Given the description of an element on the screen output the (x, y) to click on. 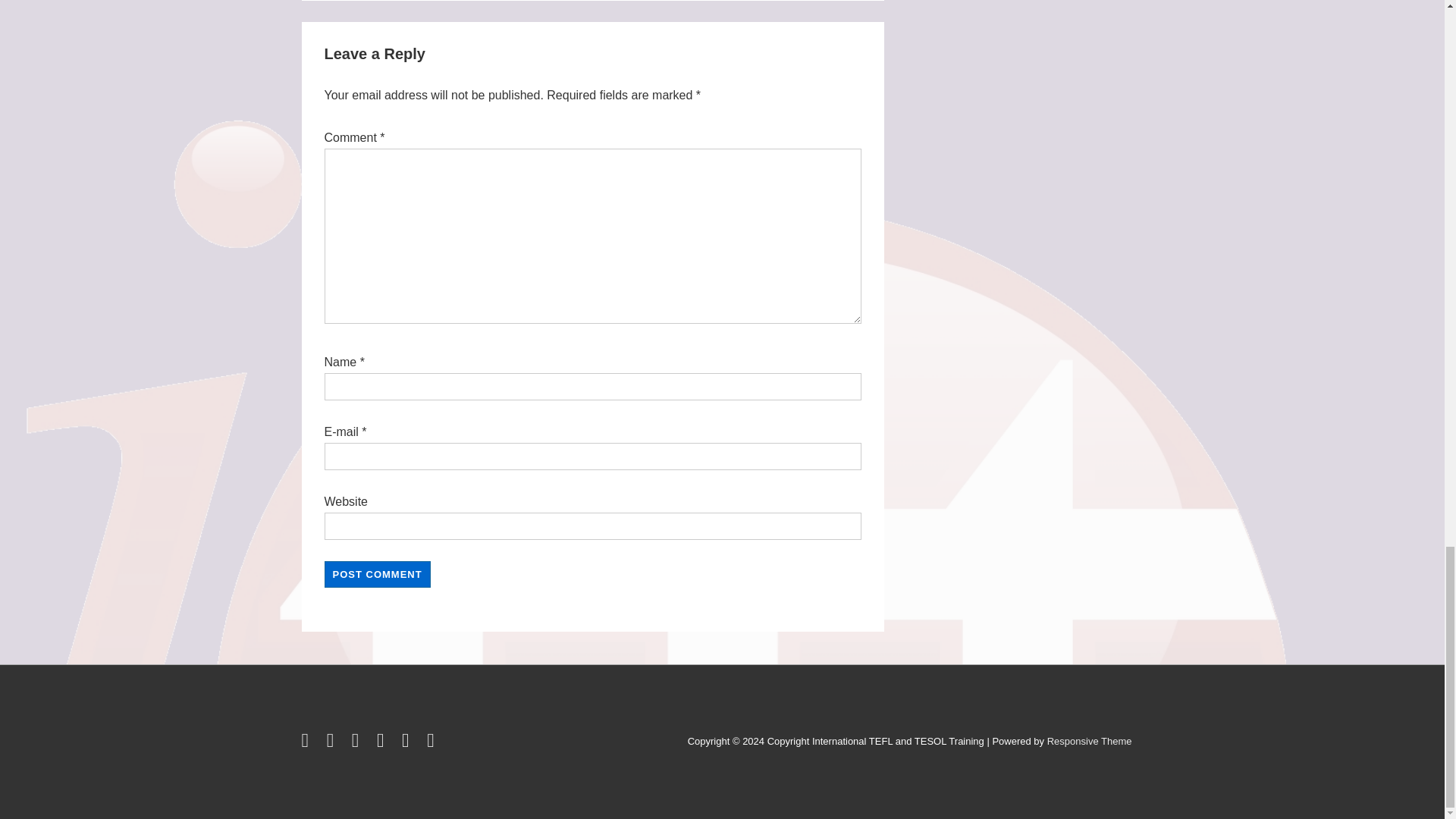
Post Comment (377, 574)
Responsive Theme (1089, 740)
facebook (333, 743)
youtube (383, 743)
vimeo (432, 743)
linkedin (358, 743)
twitter (308, 743)
pinterest (407, 743)
Post Comment (377, 574)
